Given the description of an element on the screen output the (x, y) to click on. 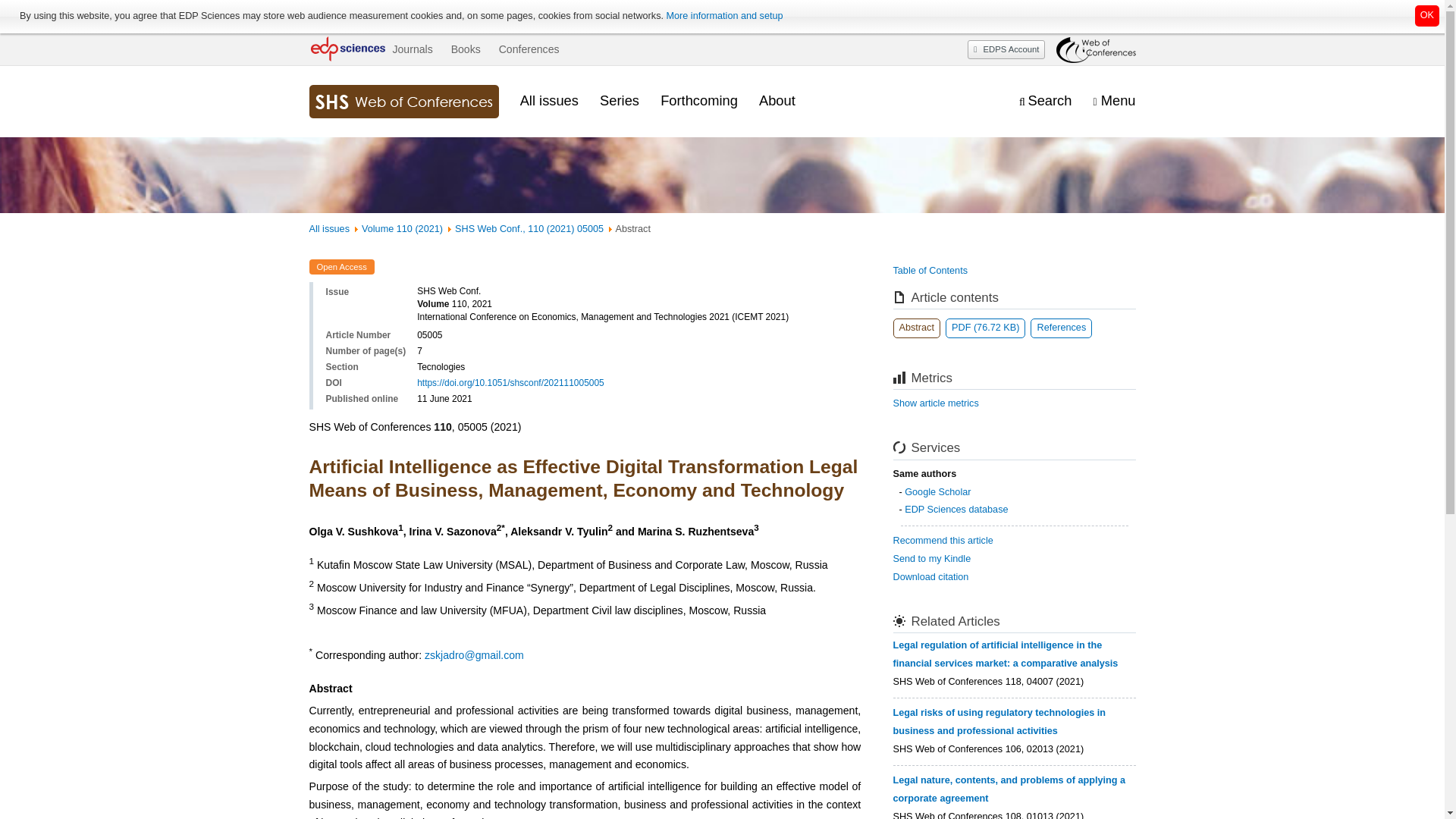
Conferences (529, 49)
Click to close this notification (1427, 15)
Journal homepage (403, 101)
Display the search engine (1045, 101)
Abstract (916, 328)
More information and setup (724, 15)
Books (465, 49)
OK (1427, 15)
Journals (411, 49)
